Given the description of an element on the screen output the (x, y) to click on. 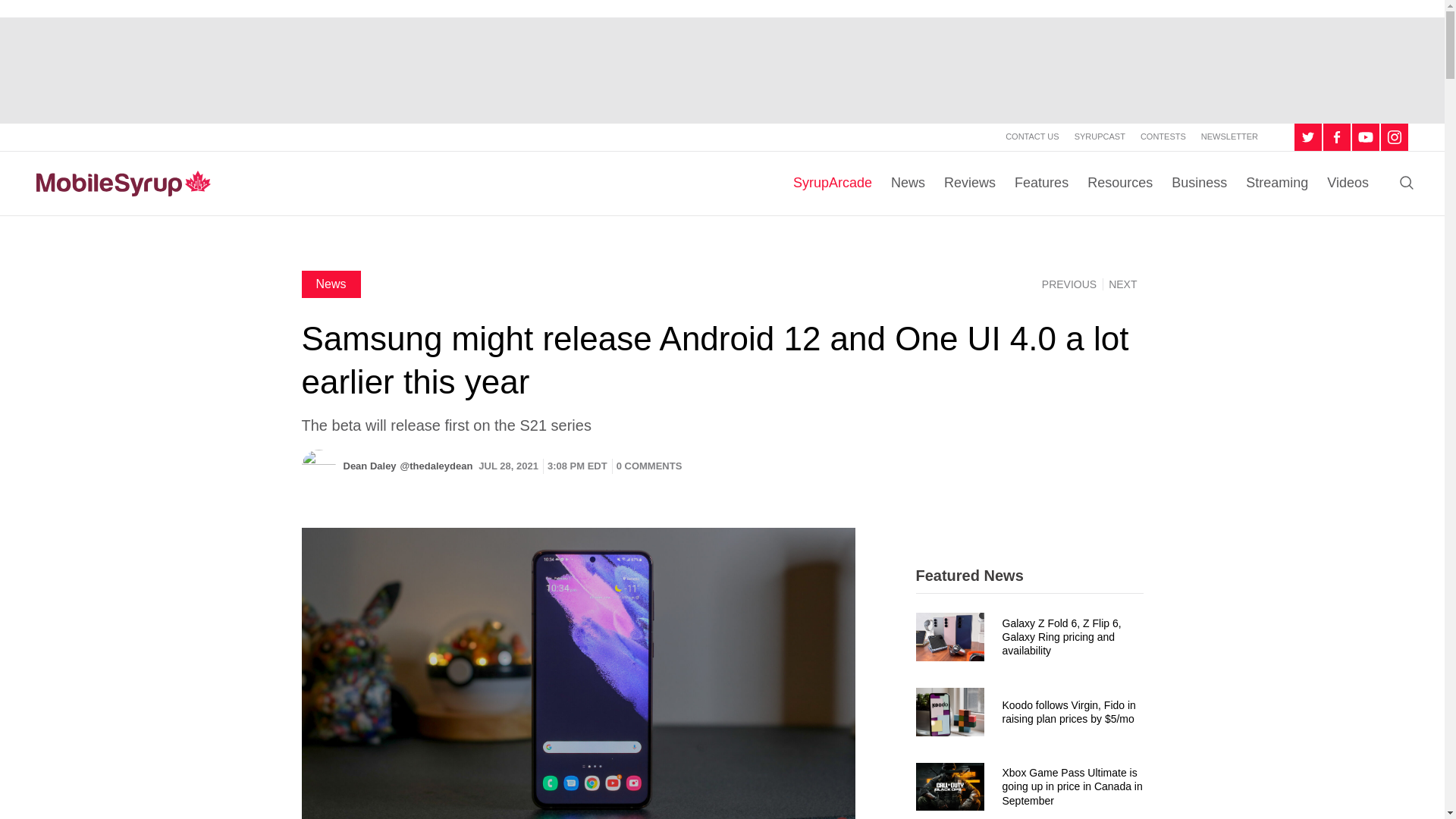
CONTACT US (1032, 135)
NEWSLETTER (1229, 135)
CONTESTS (1163, 135)
SyrupArcade (832, 183)
SYRUPCAST (1099, 135)
